Given the description of an element on the screen output the (x, y) to click on. 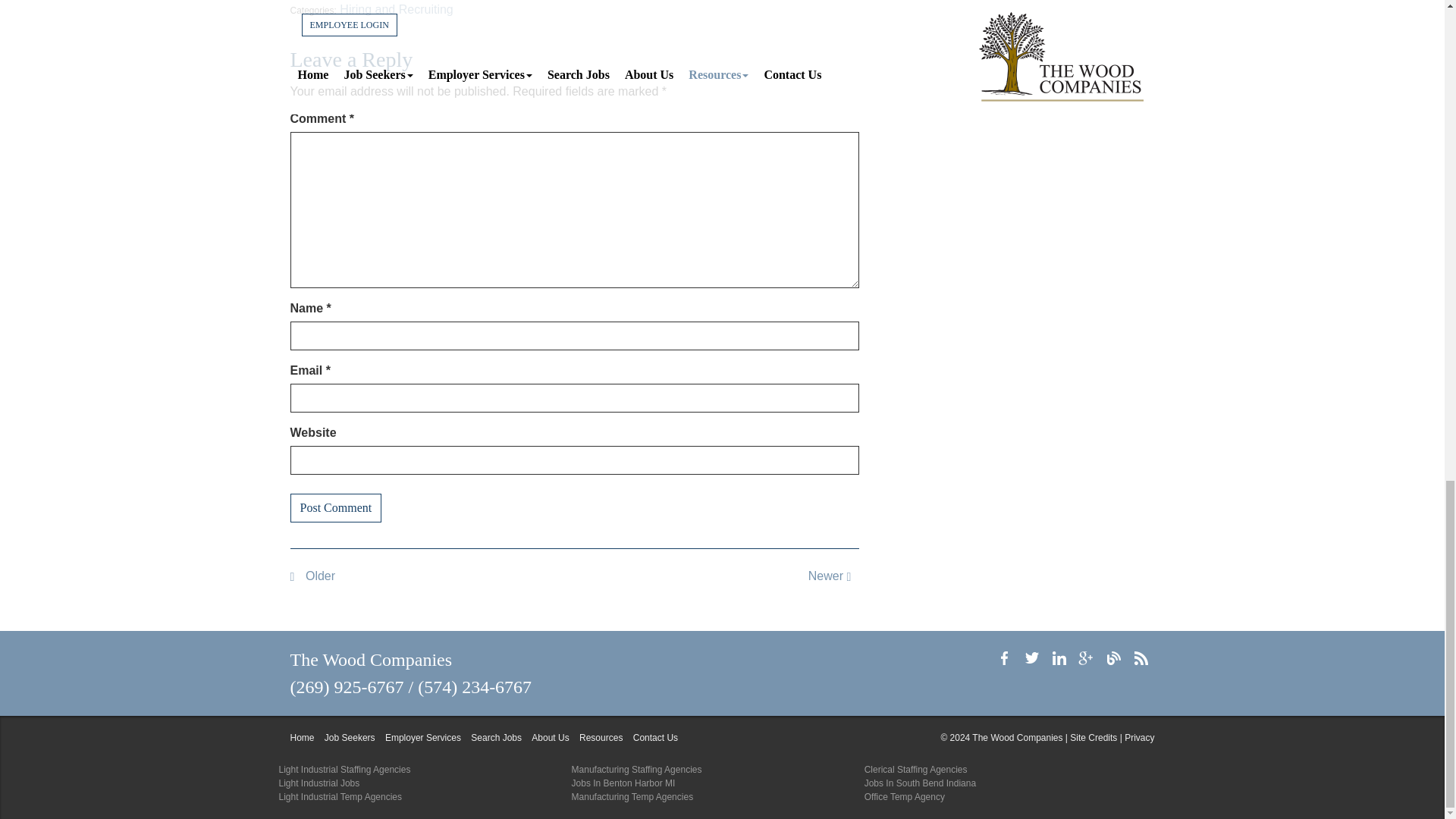
Newer (833, 575)
Post Comment (335, 507)
Post Comment (335, 507)
Like us on Facebook (1003, 658)
Older (311, 575)
Hiring and Recruiting (395, 9)
